Given the description of an element on the screen output the (x, y) to click on. 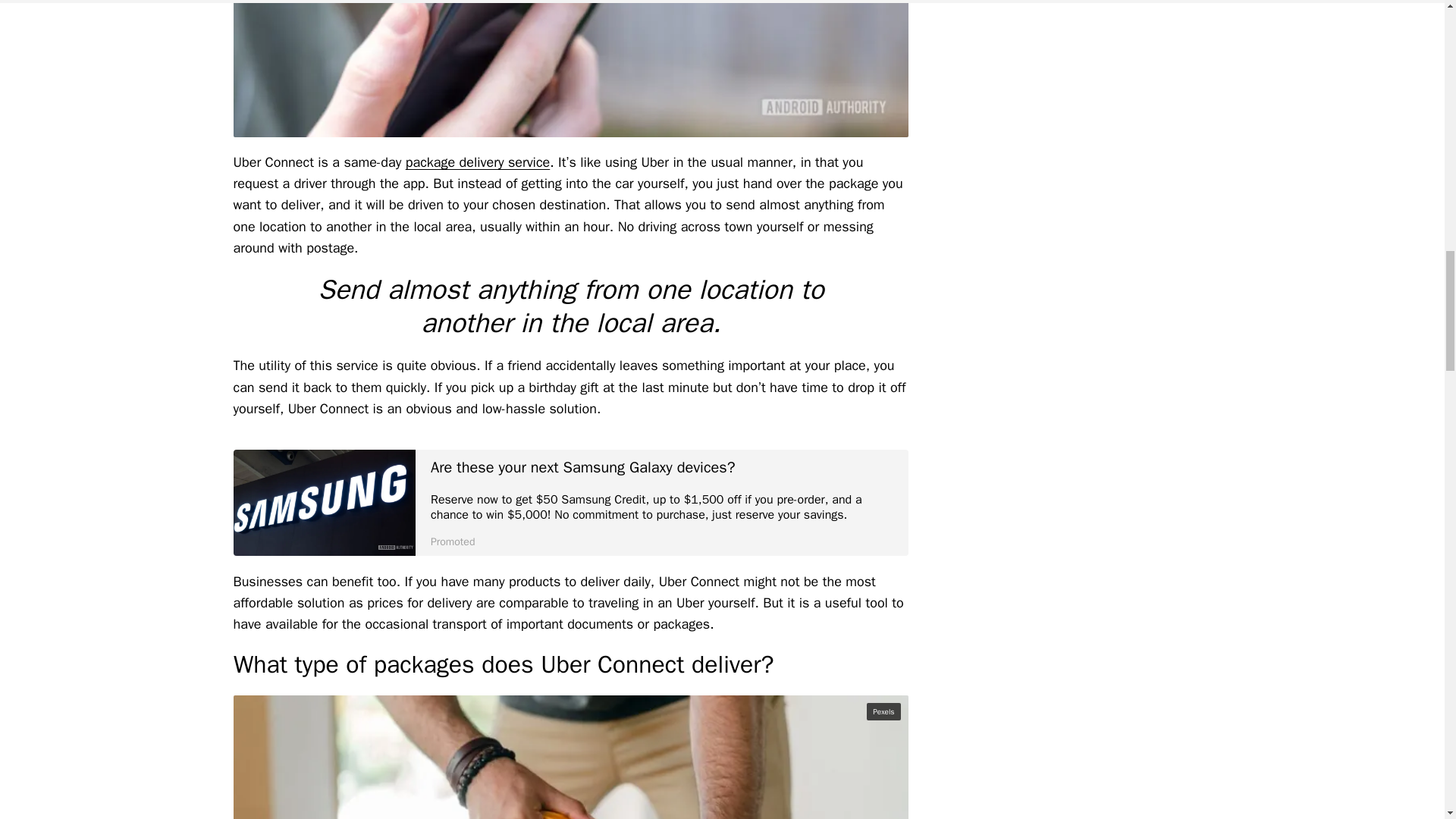
package delivery service (478, 161)
Galaxy A32 in hand showing cameras and buttons (570, 68)
Pexels (882, 711)
Man Sealing a Package with Tape (570, 757)
